Given the description of an element on the screen output the (x, y) to click on. 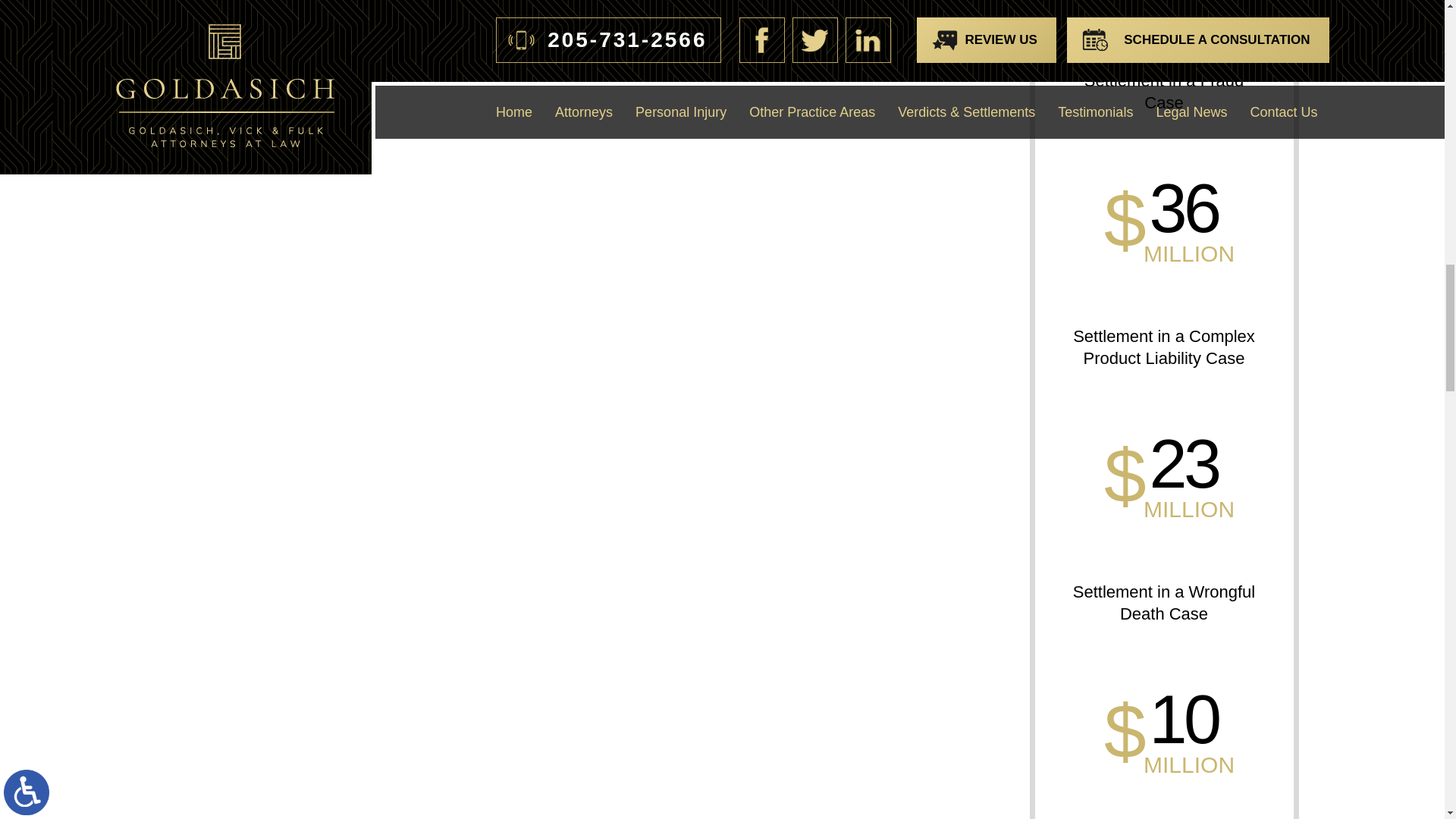
2022-01-14T05:04:34-0800 (402, 11)
